Given the description of an element on the screen output the (x, y) to click on. 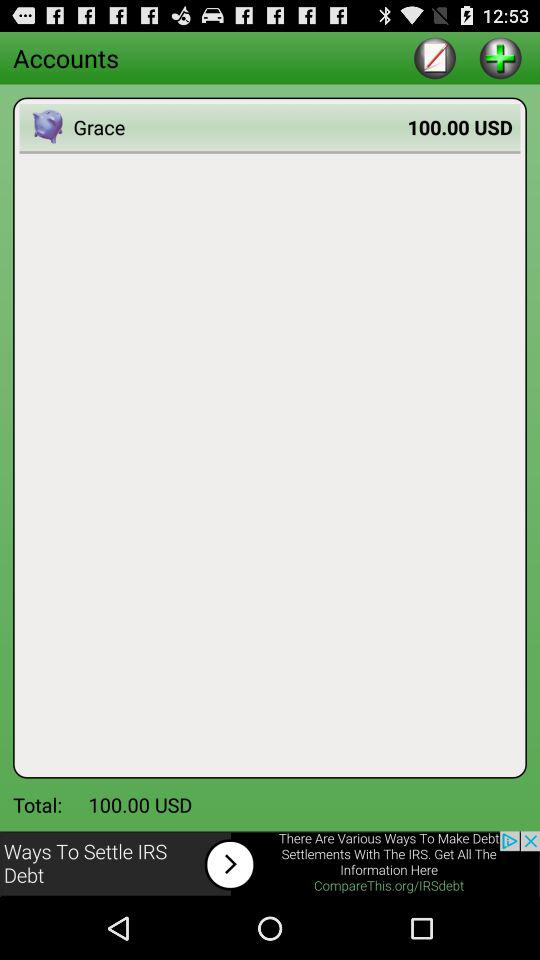
click on the advertisement (270, 864)
